Given the description of an element on the screen output the (x, y) to click on. 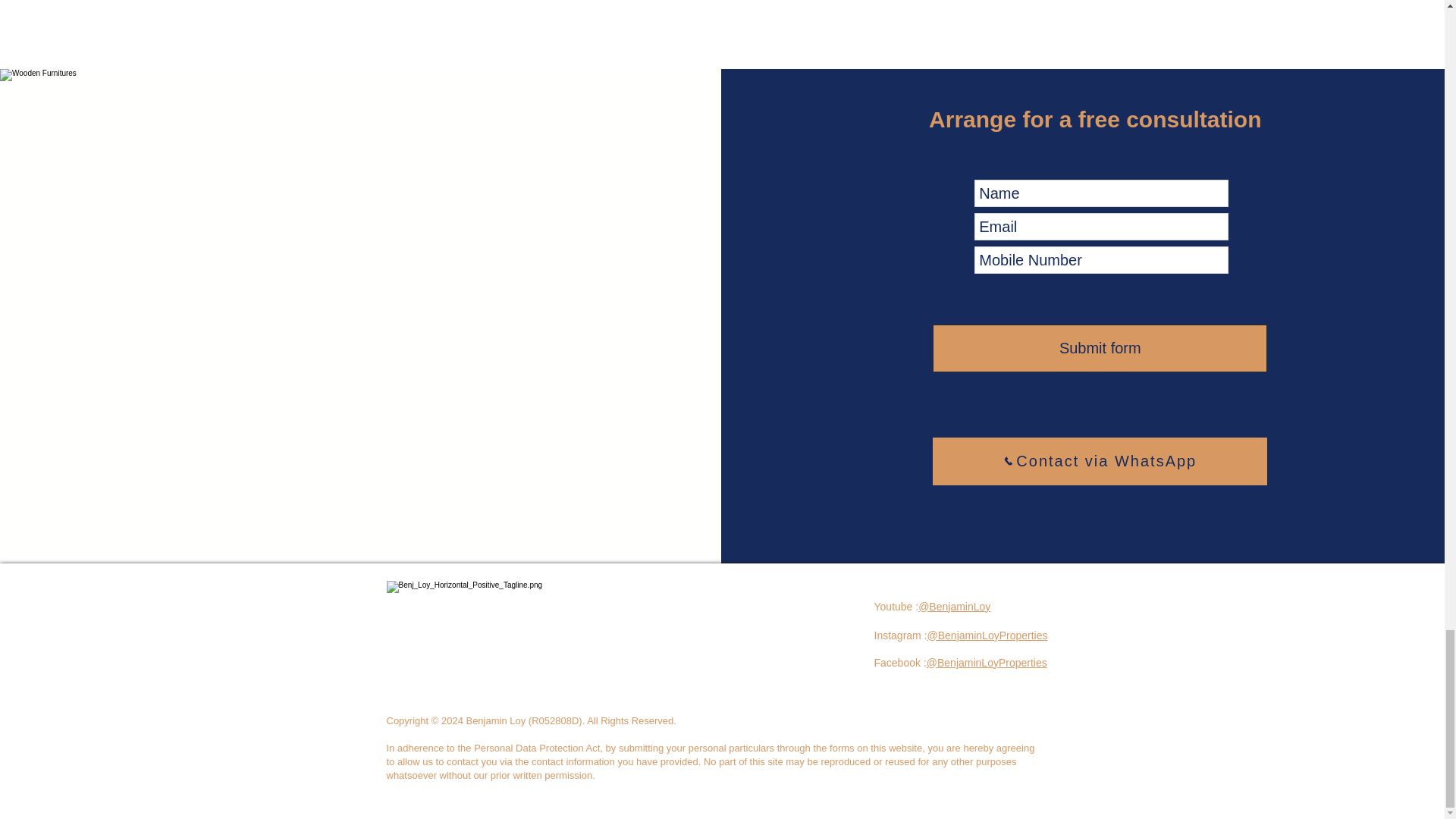
Submit form (1099, 347)
Contact via WhatsApp (1099, 461)
